Given the description of an element on the screen output the (x, y) to click on. 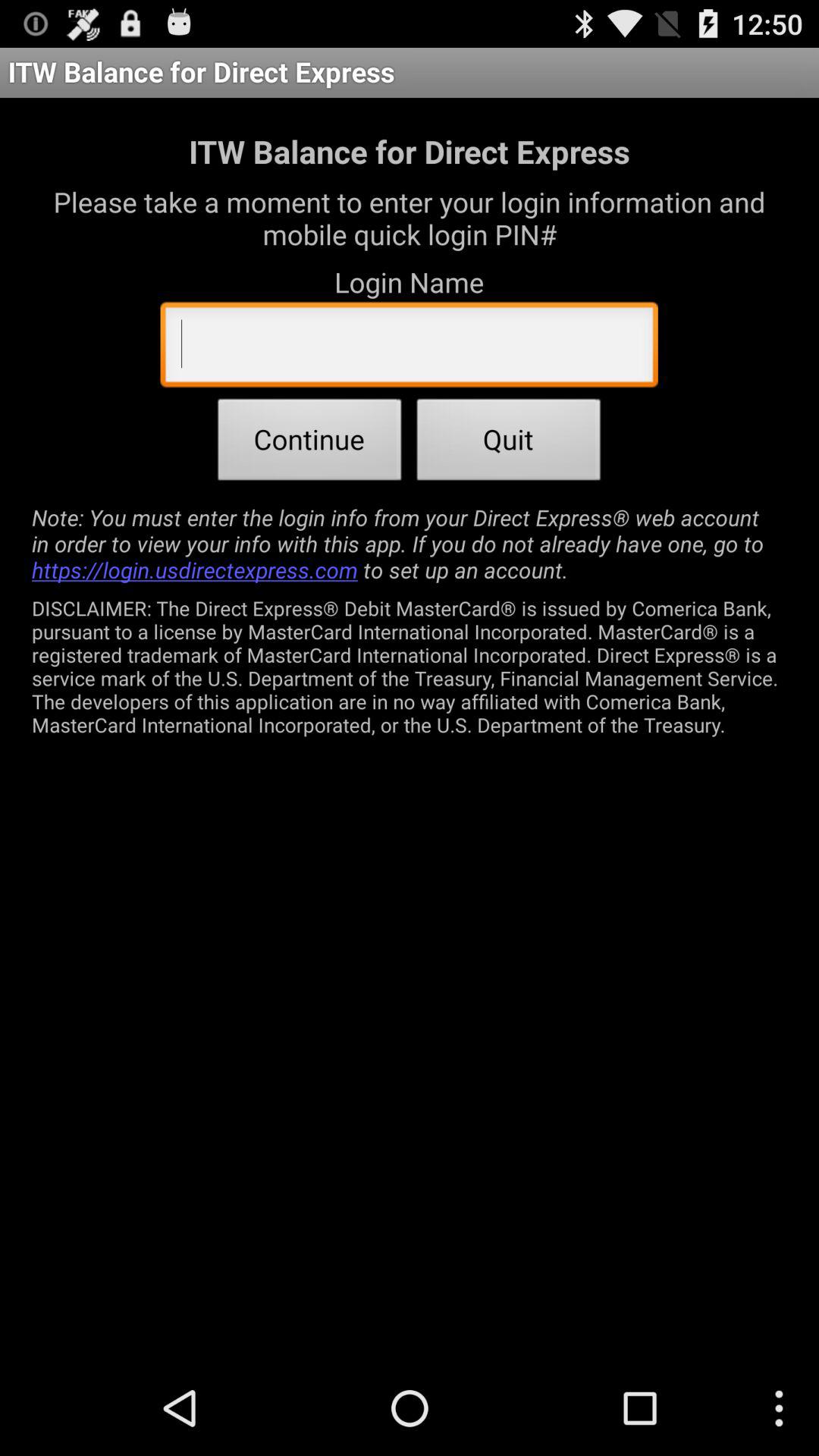
launch note you must item (409, 543)
